Given the description of an element on the screen output the (x, y) to click on. 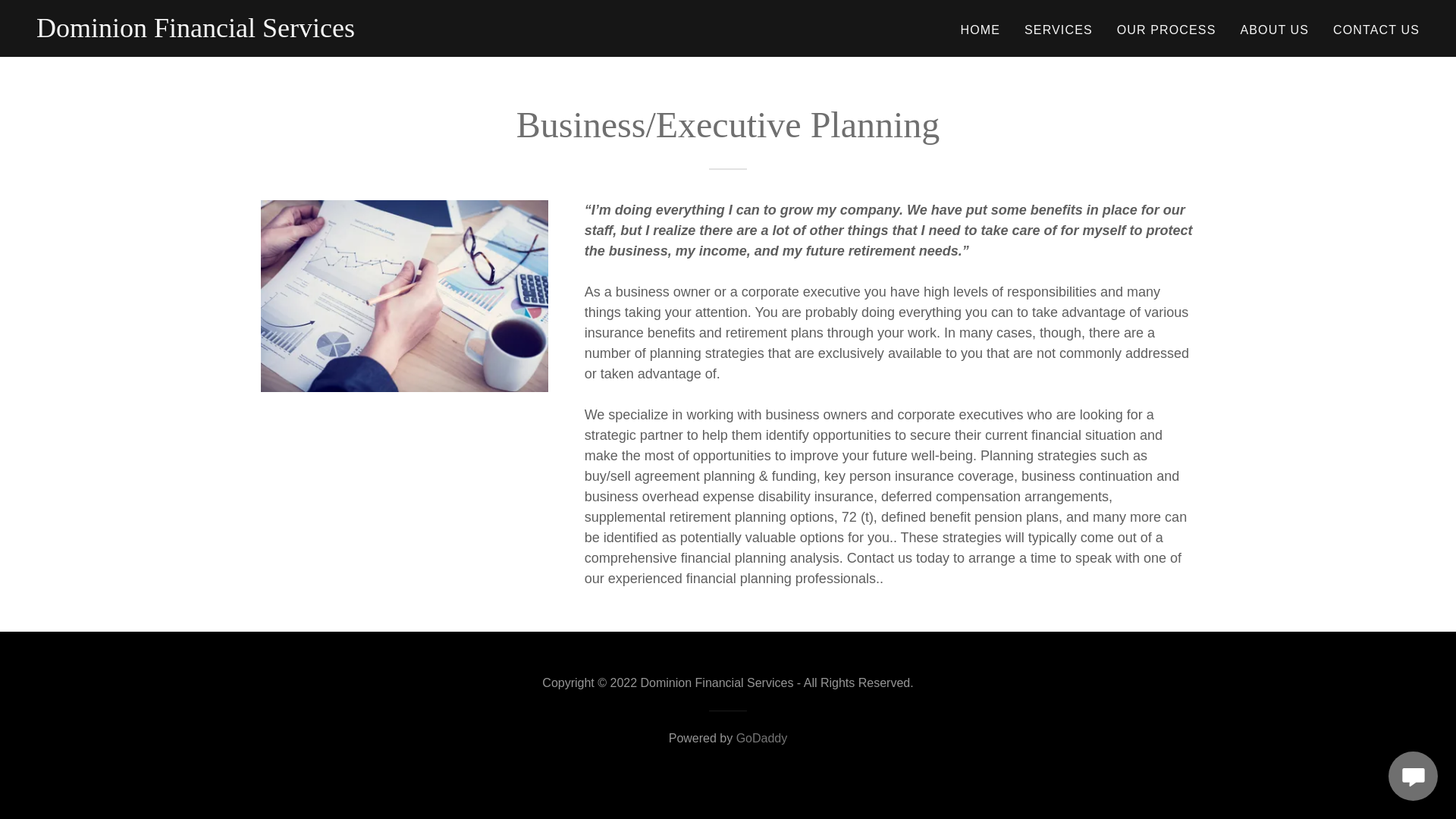
OUR PROCESS (1166, 30)
SERVICES (1058, 30)
HOME (979, 30)
GoDaddy (761, 738)
ABOUT US (1275, 30)
Dominion Financial Services (195, 32)
Dominion Financial Services (195, 32)
CONTACT US (1375, 30)
